Given the description of an element on the screen output the (x, y) to click on. 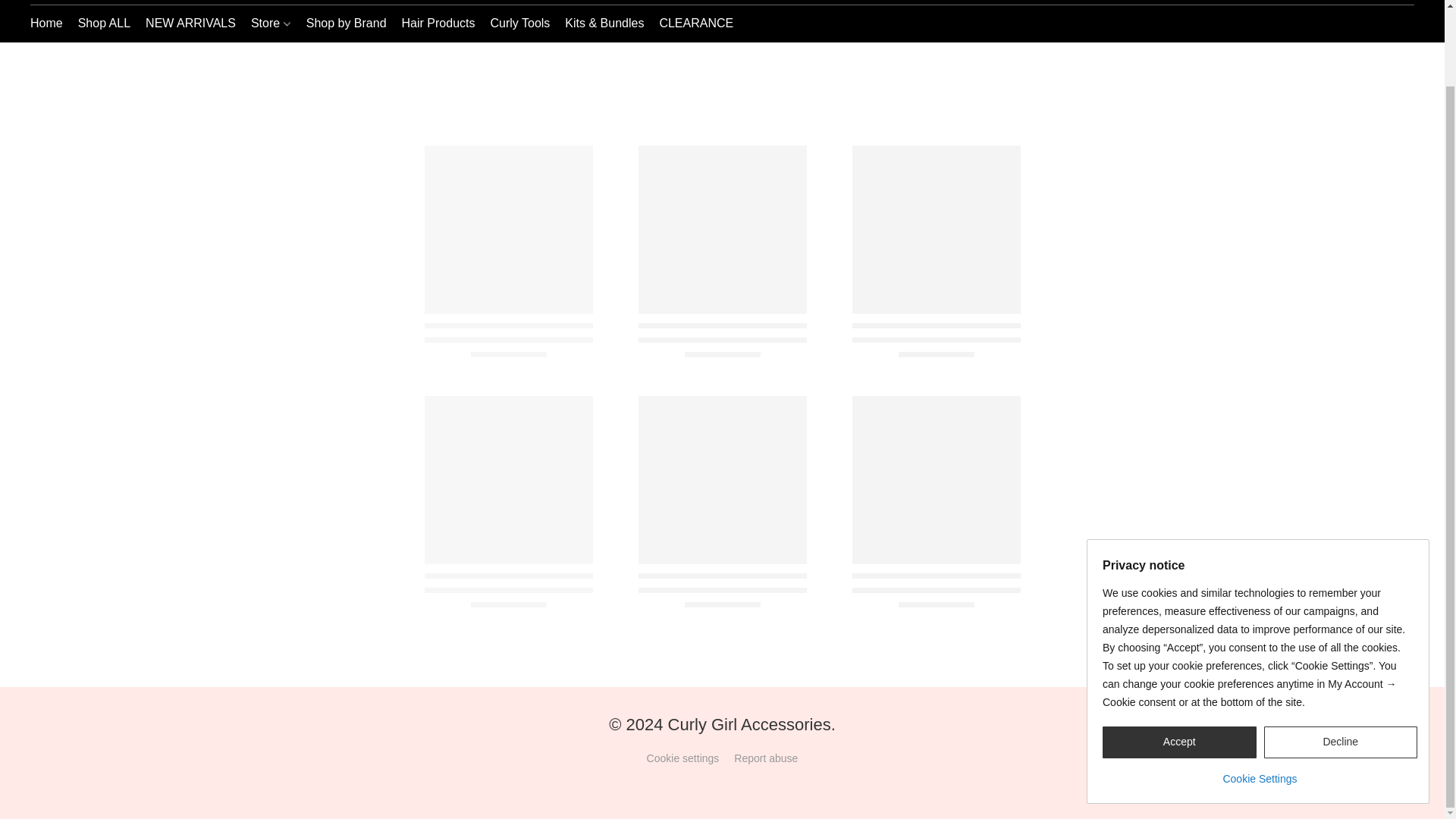
Home (49, 23)
Cookie Settings (1259, 687)
Shop by Brand (346, 23)
Decline (1339, 657)
Accept (1179, 657)
Report abuse (765, 758)
Shop ALL (103, 23)
Cookie settings (682, 758)
CLEARANCE (691, 23)
NEW ARRIVALS (190, 23)
